Given the description of an element on the screen output the (x, y) to click on. 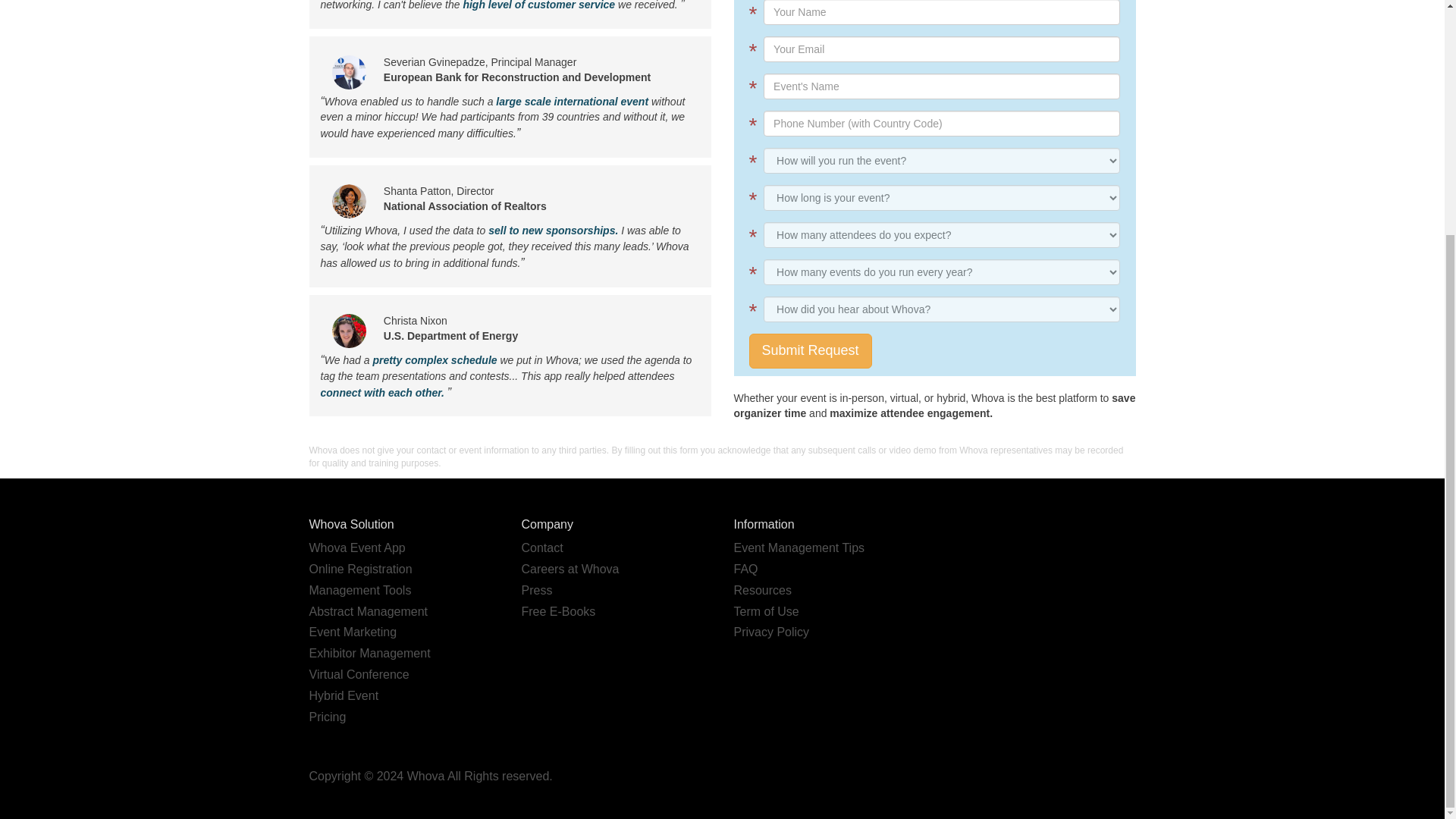
Pricing (327, 716)
Whova Event App (357, 547)
Abstract Management (368, 611)
Exhibitor Management (369, 653)
Hybrid Event (343, 695)
Online Registration (360, 568)
Virtual Conference (358, 674)
Event Marketing (352, 631)
Submit Request (810, 350)
Management Tools (360, 590)
